Given the description of an element on the screen output the (x, y) to click on. 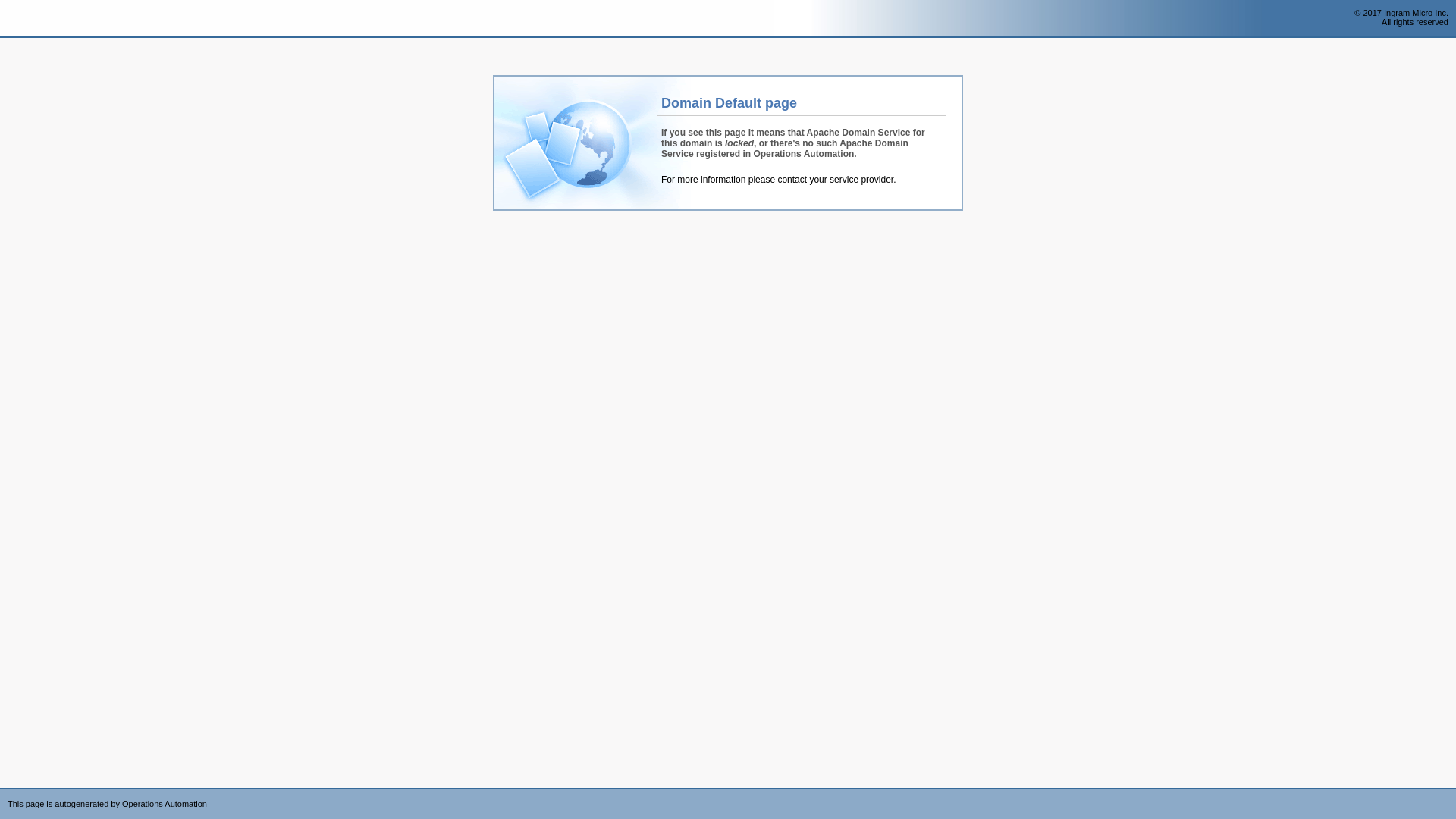
Operations Automation Element type: text (39, 18)
Powered by CloudBlue Commerce Element type: hover (1447, 792)
